Given the description of an element on the screen output the (x, y) to click on. 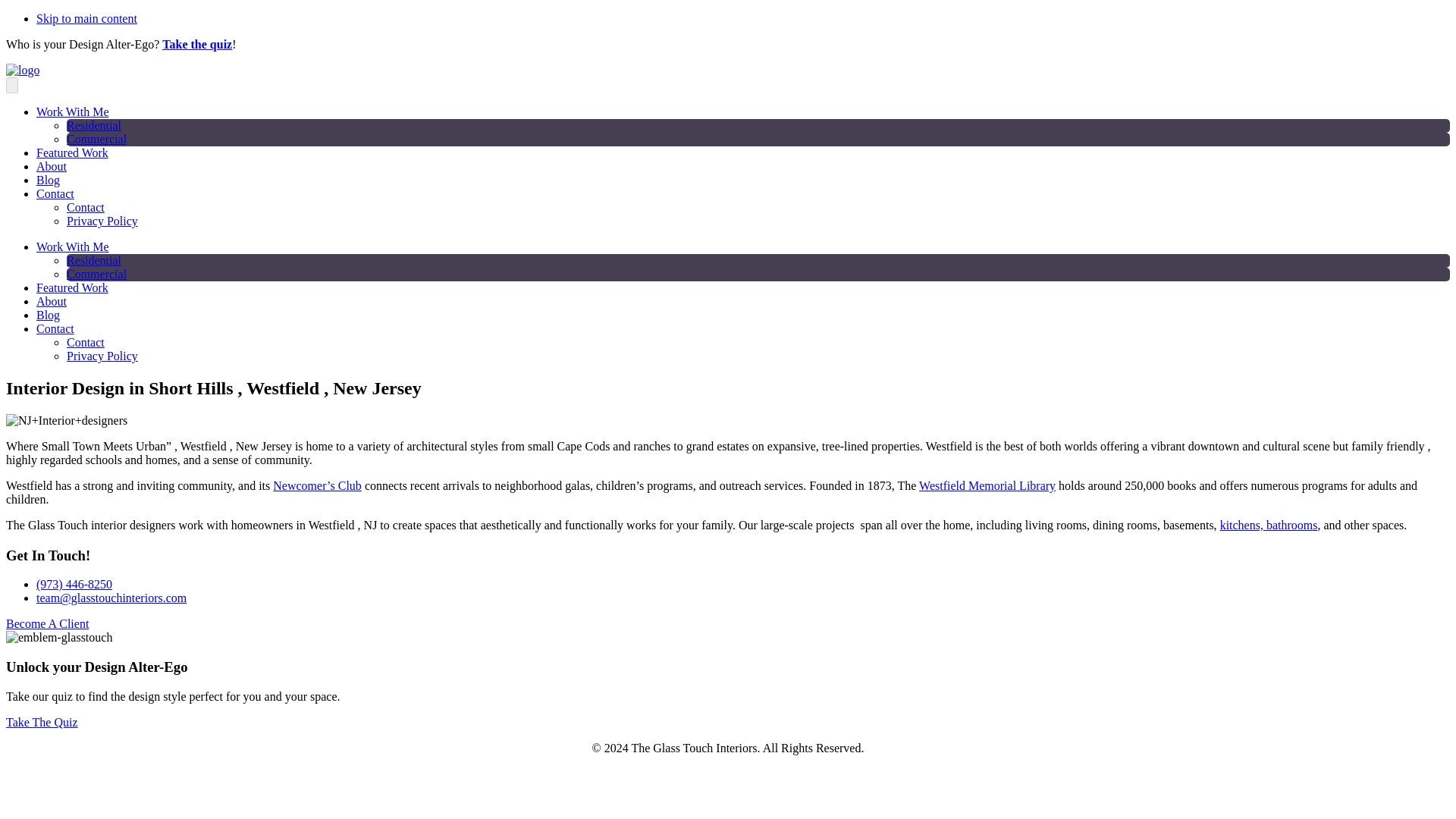
Featured Work (71, 152)
Privacy Policy (102, 220)
Take The Quiz (41, 721)
Featured Work (71, 287)
Blog (47, 179)
Work With Me (72, 111)
About (51, 300)
Blog (47, 314)
Contact (85, 341)
Contact (85, 206)
Contact (55, 328)
Residential (93, 124)
Skip to main content (86, 18)
Residential (93, 259)
Privacy Policy (102, 355)
